Given the description of an element on the screen output the (x, y) to click on. 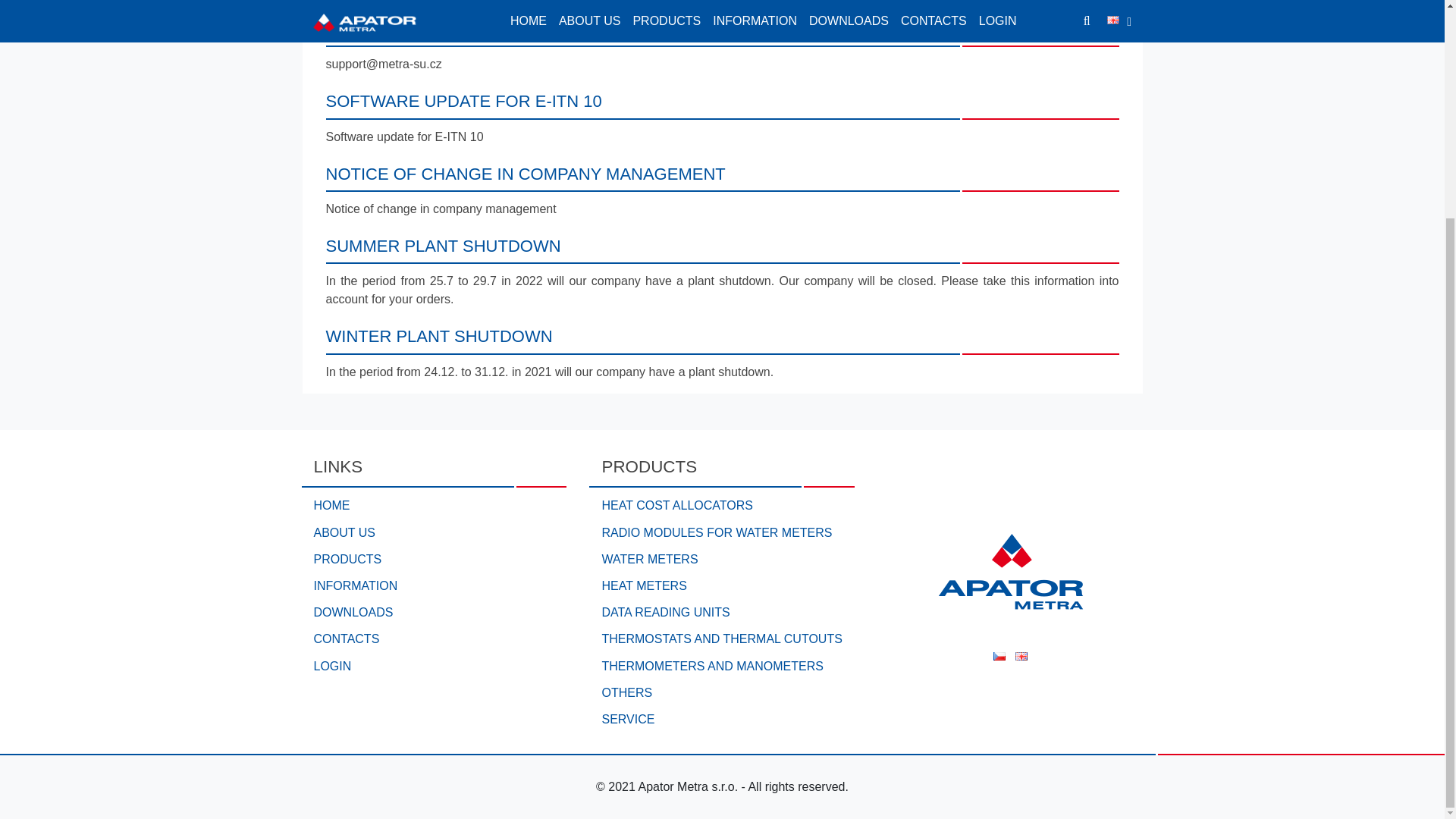
ABOUT US (434, 531)
SOFTWARE UPDATE FOR E-ITN 10 (464, 100)
HOME (434, 505)
WINTER PLANT SHUTDOWN (439, 335)
NEW E-MAIL TECHNICAL SUPPORT (467, 28)
INFORMATION (434, 585)
Change language (1020, 654)
SUMMER PLANT SHUTDOWN (443, 245)
NOTICE OF CHANGE IN COMPANY MANAGEMENT (525, 173)
PRODUCTS (434, 558)
